Given the description of an element on the screen output the (x, y) to click on. 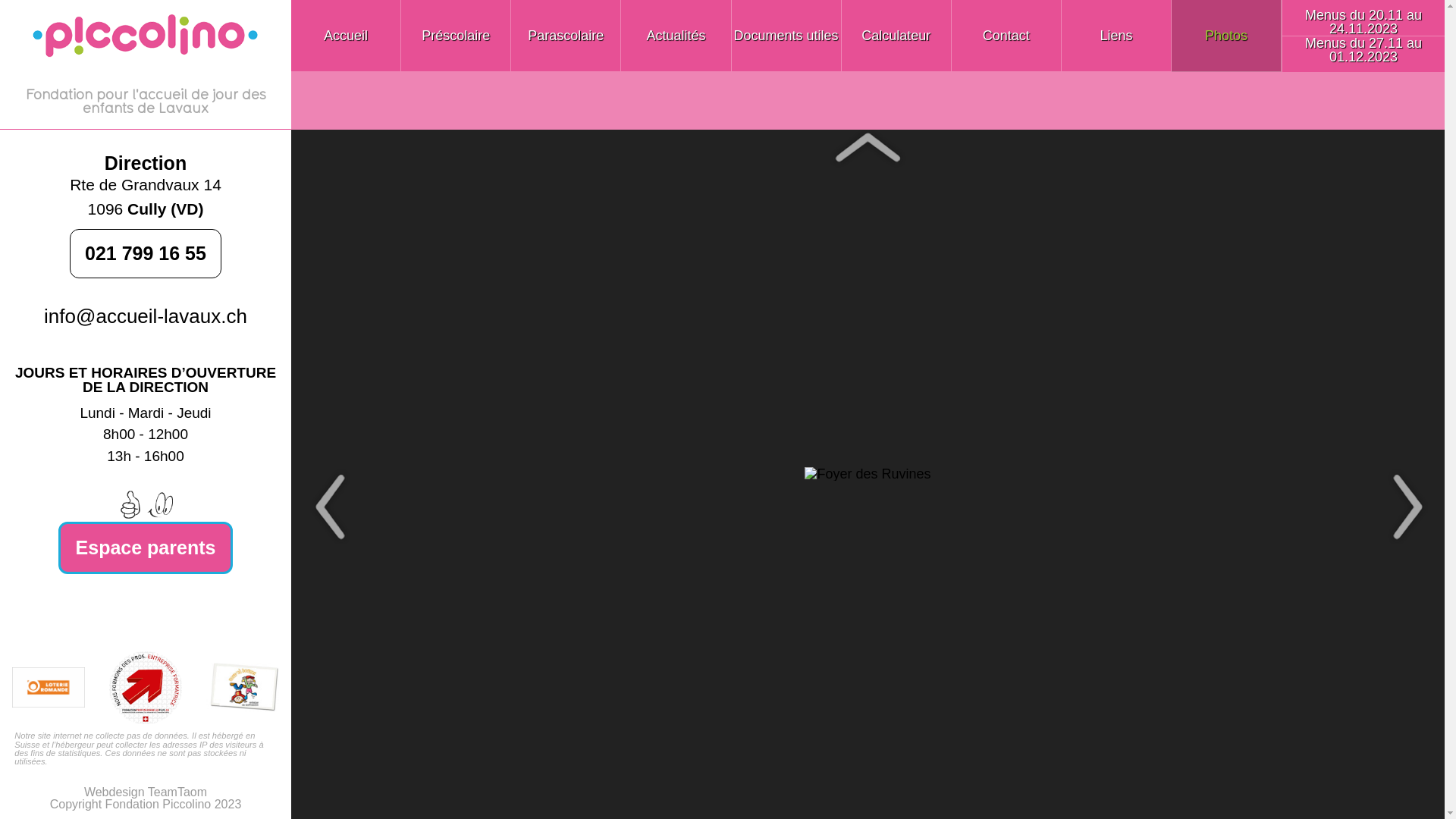
Contact Element type: text (1006, 36)
Documents utiles Element type: text (785, 36)
021 799 16 55 Element type: text (145, 253)
Parascolaire Element type: text (566, 36)
Calculateur Element type: text (896, 36)
Liens Element type: text (1116, 36)
Accueil Element type: text (346, 36)
Photos Element type: text (1226, 36)
Webdesign TeamTaom Element type: text (145, 791)
Espace parents Element type: text (145, 547)
Menus du 20.11 au 24.11.2023 Element type: text (1363, 21)
Menus du 27.11 au 01.12.2023 Element type: text (1363, 49)
